Given the description of an element on the screen output the (x, y) to click on. 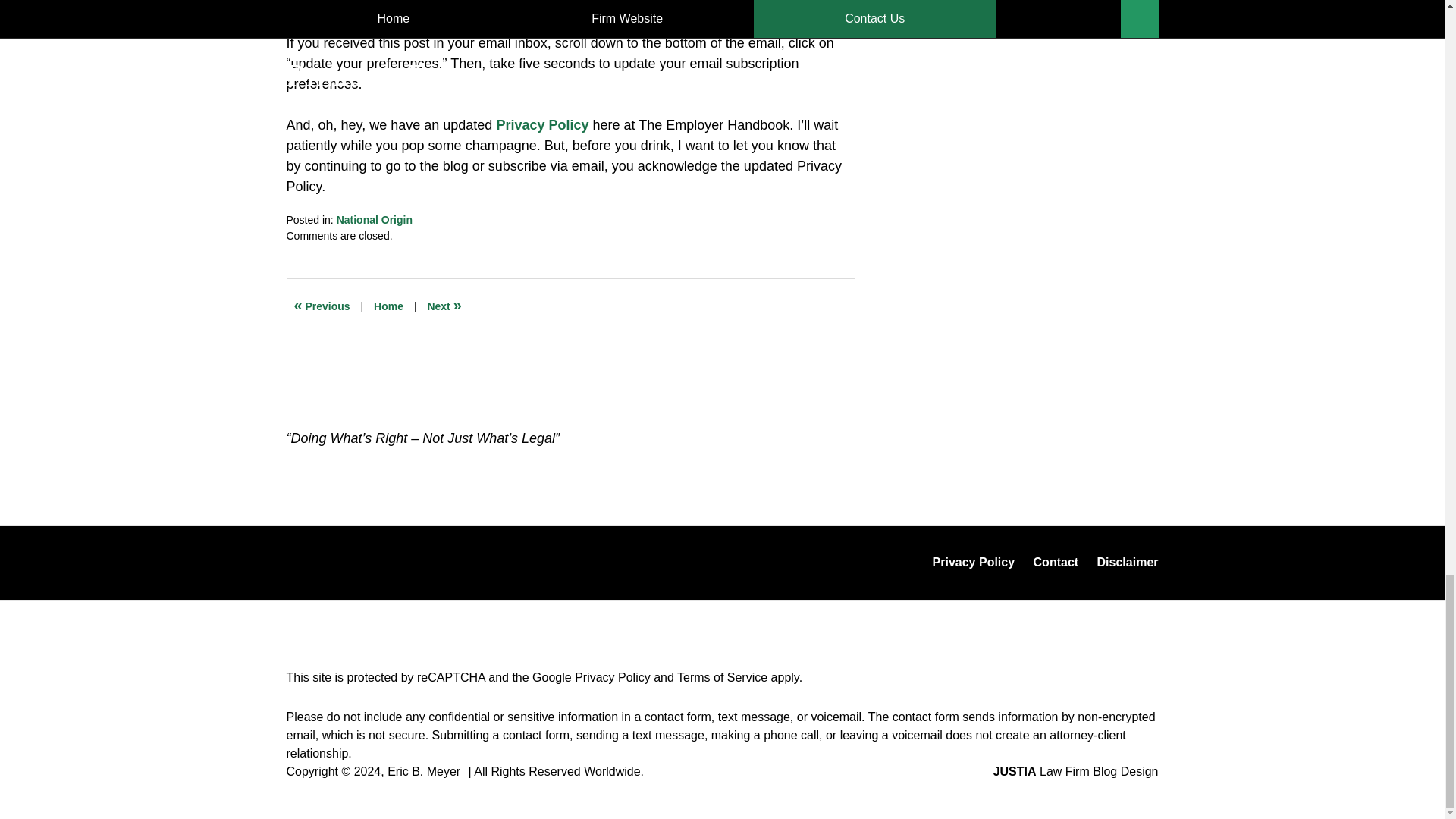
Privacy Policy (542, 124)
Eric B. Meyer (423, 771)
National Origin (374, 219)
Privacy Policy (612, 676)
Privacy Policy (973, 562)
Terms of Service (722, 676)
Disclaimer (1127, 562)
Home (388, 306)
Contact (1056, 562)
View all posts in National Origin (374, 219)
